Given the description of an element on the screen output the (x, y) to click on. 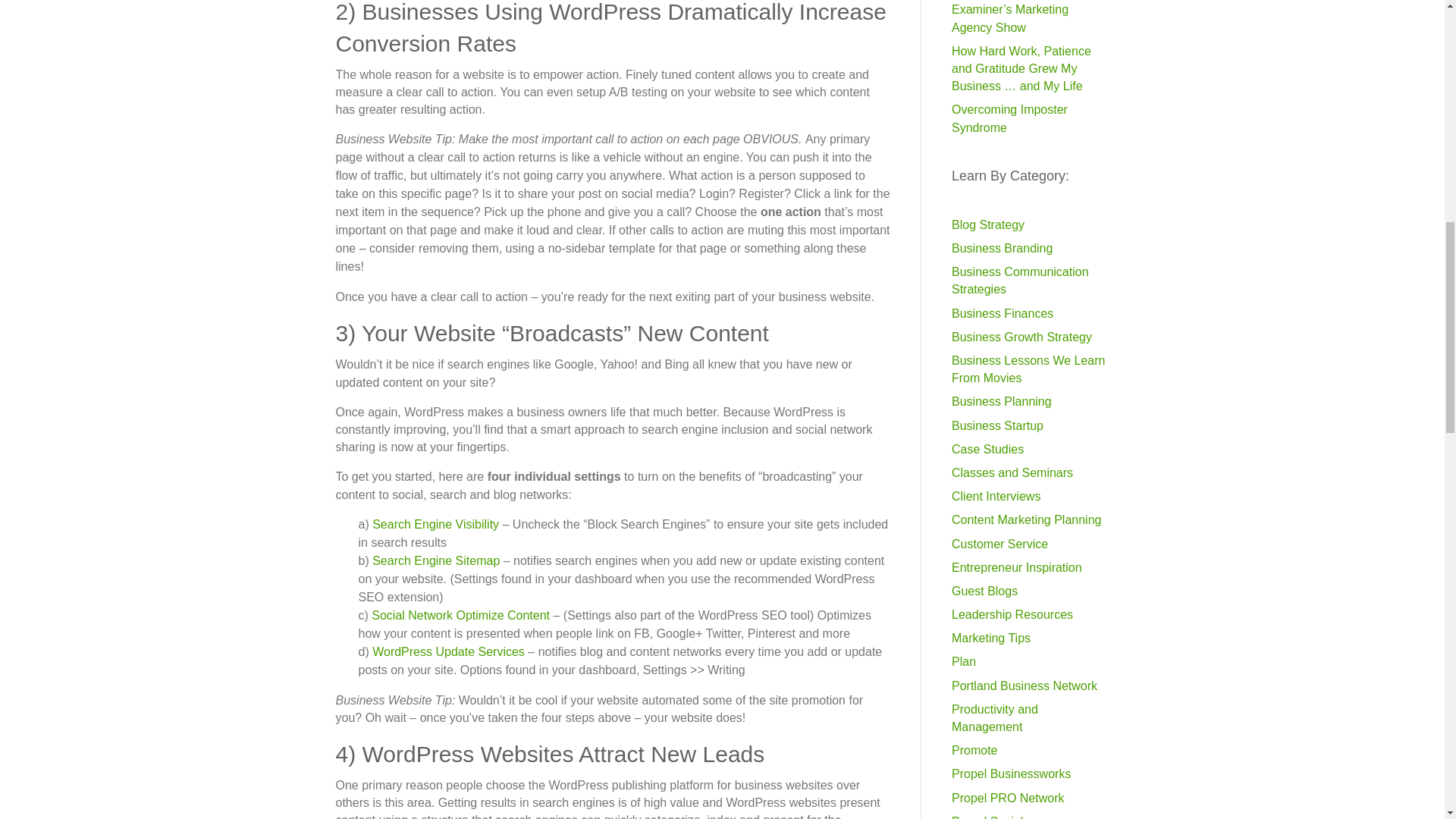
WordPress Update Services (448, 651)
Search Engine Visibility (435, 523)
Search Engine Sitemap (435, 560)
Social Network Optimize Content (460, 615)
